Given the description of an element on the screen output the (x, y) to click on. 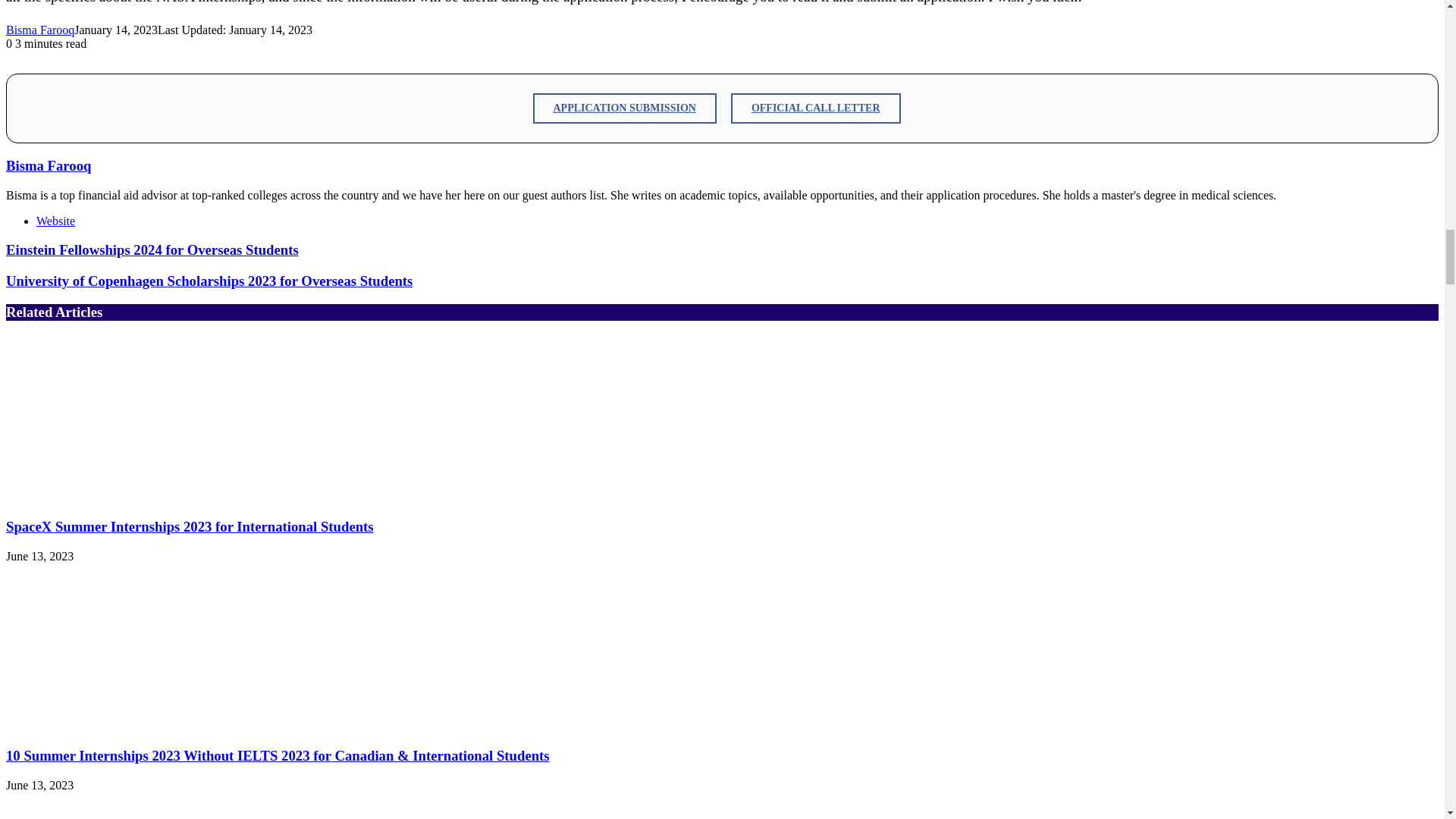
Website (55, 220)
Bisma Farooq (39, 29)
Bisma Farooq (47, 165)
Bisma Farooq (39, 29)
APPLICATION SUBMISSION (624, 108)
SpaceX Summer Internships 2023 for International Students (189, 526)
OFFICIAL CALL LETTER (815, 108)
